Given the description of an element on the screen output the (x, y) to click on. 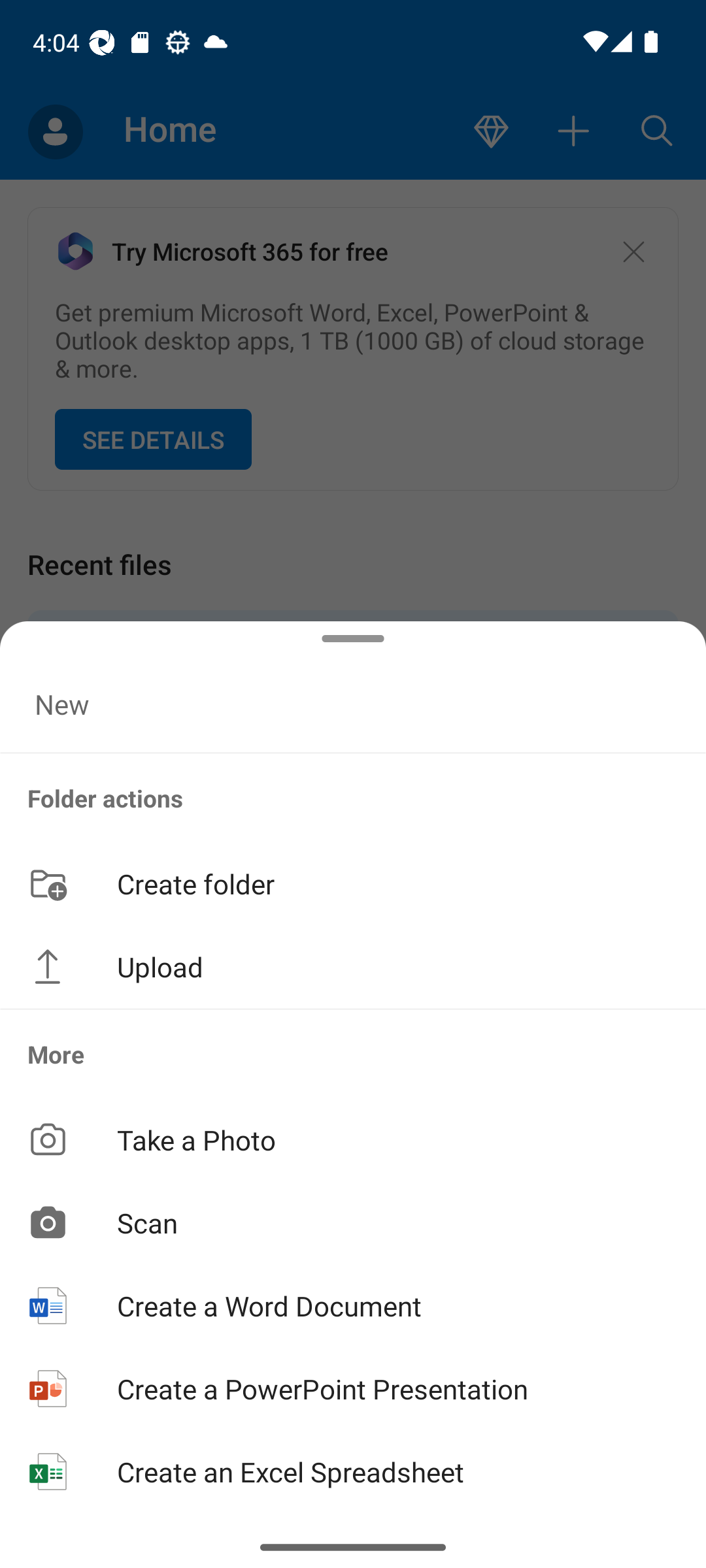
Create folder button Create folder (353, 883)
Upload button Upload (353, 966)
Take a Photo button Take a Photo (353, 1138)
Scan button Scan (353, 1221)
